Given the description of an element on the screen output the (x, y) to click on. 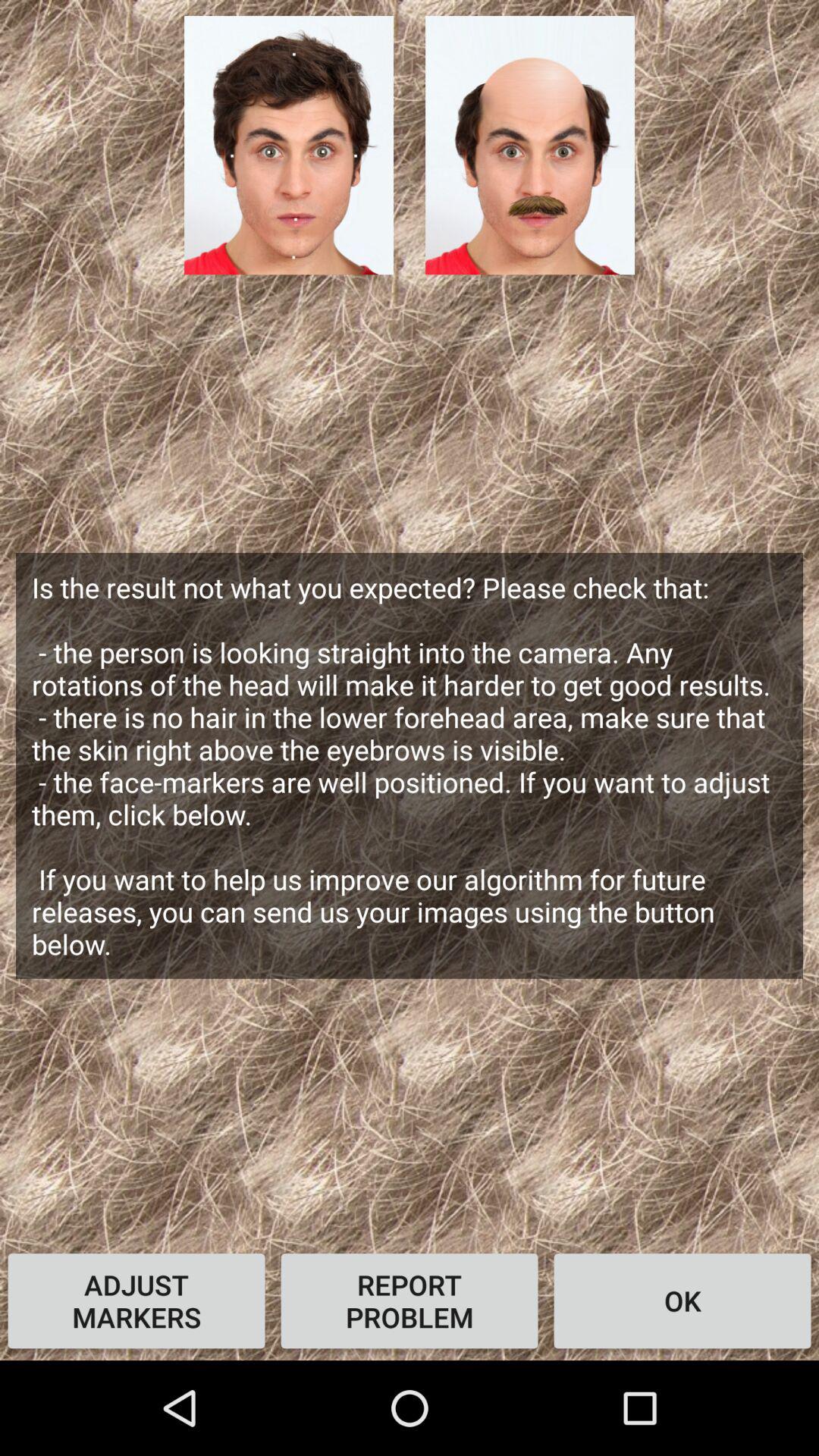
tap button to the left of report problem icon (136, 1300)
